Given the description of an element on the screen output the (x, y) to click on. 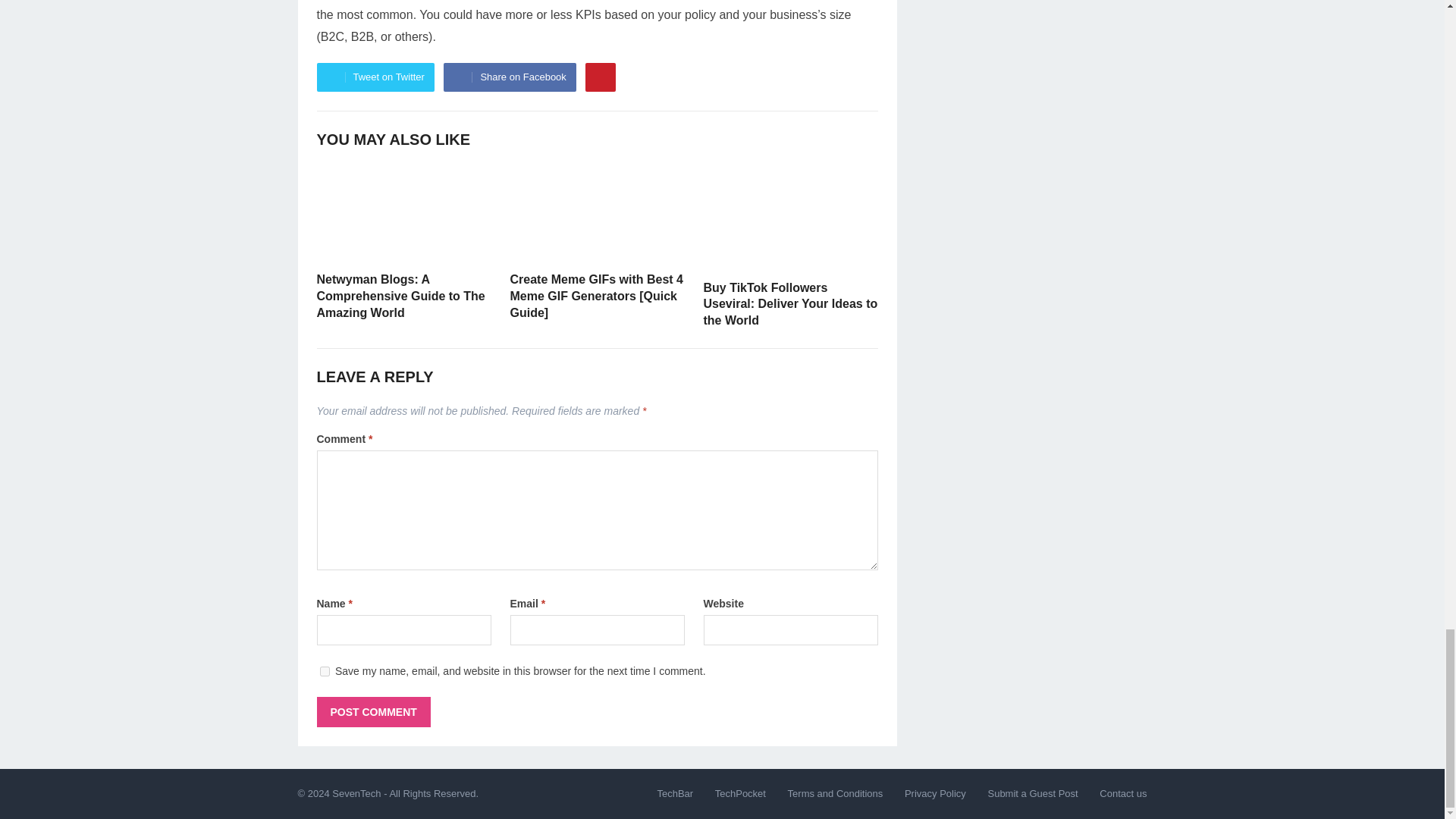
Tweet on Twitter (375, 77)
Post Comment (373, 711)
Share on Facebook (509, 77)
Pinterest (600, 77)
Post Comment (373, 711)
yes (325, 671)
Netwyman Blogs: A Comprehensive Guide to The Amazing World (400, 295)
